Given the description of an element on the screen output the (x, y) to click on. 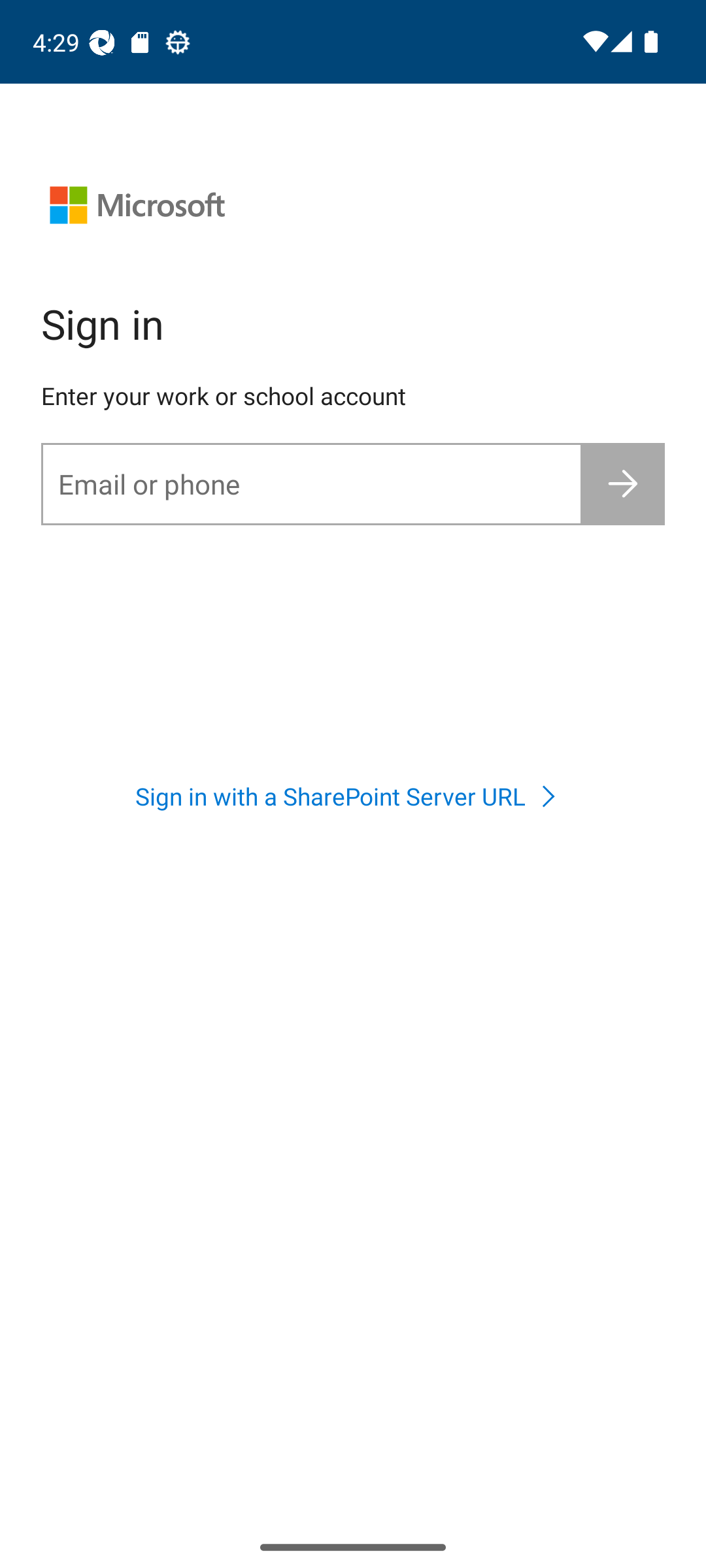
Email or phone (311, 483)
Next (623, 483)
Sign in with a SharePoint Server URL (352, 796)
